Given the description of an element on the screen output the (x, y) to click on. 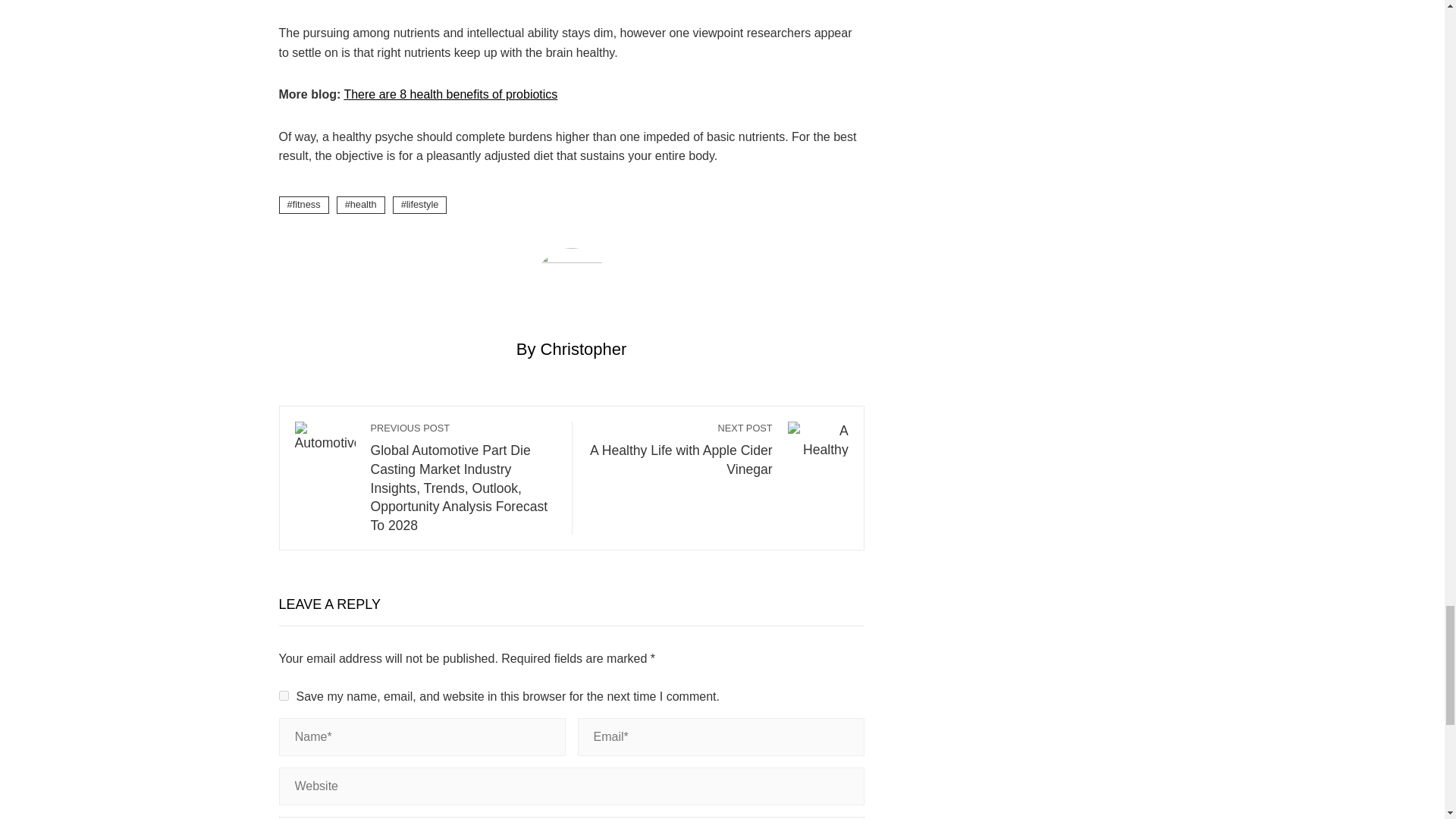
fitness (304, 204)
lifestyle (419, 204)
There are 8 health benefits of probiotics (450, 93)
yes (283, 696)
health (360, 204)
